Given the description of an element on the screen output the (x, y) to click on. 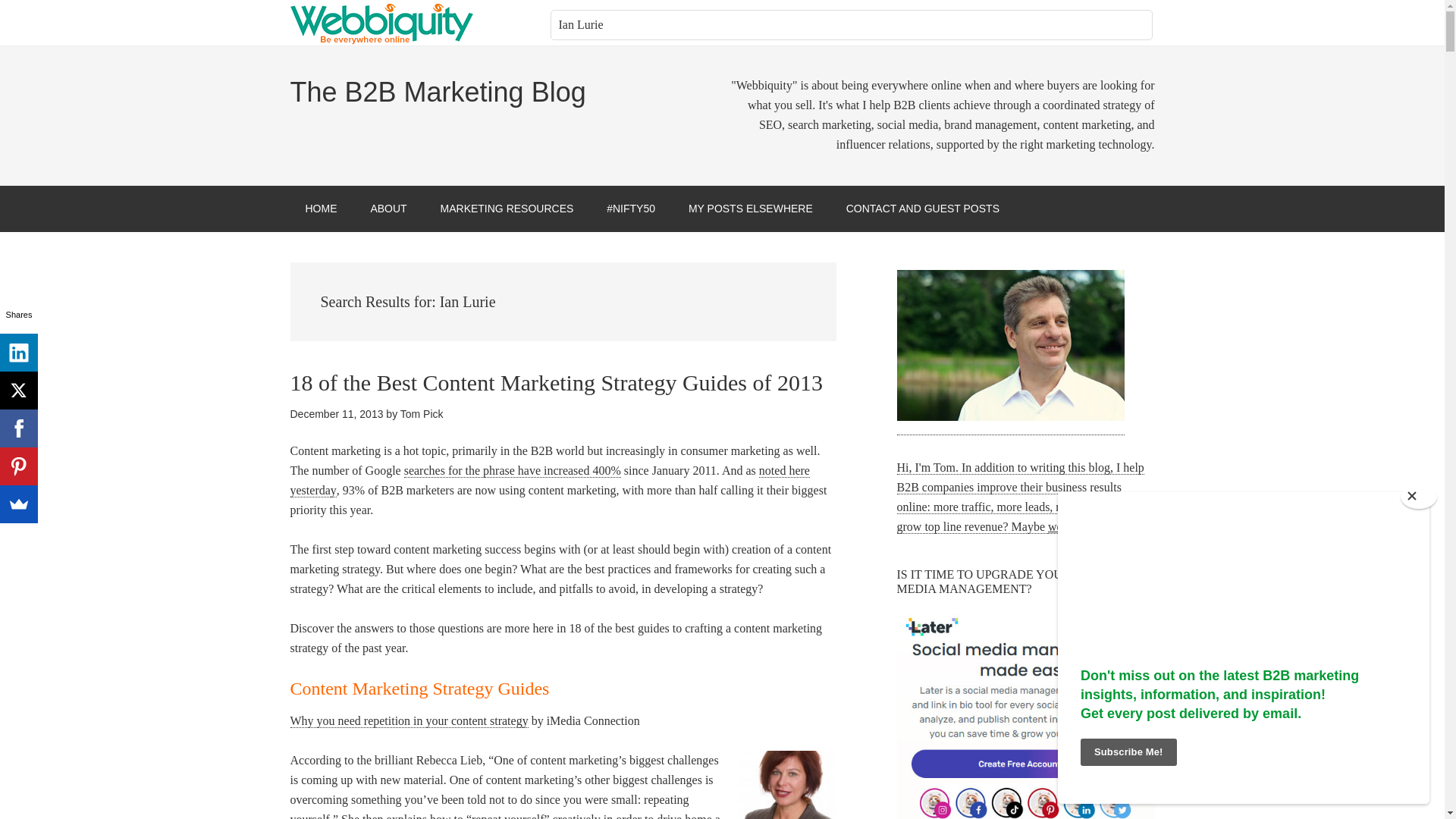
MY POSTS ELSEWHERE (750, 208)
HOME (320, 208)
18 of the Best Content Marketing Strategy Guides of 2013 (555, 382)
MARKETING RESOURCES (507, 208)
ABOUT (388, 208)
Why you need repetition in your content strategy (408, 721)
CONTACT AND GUEST POSTS (922, 208)
Ian Lurie (851, 24)
noted here yesterday (549, 480)
Tom Pick (422, 413)
Ian Lurie (851, 24)
